Given the description of an element on the screen output the (x, y) to click on. 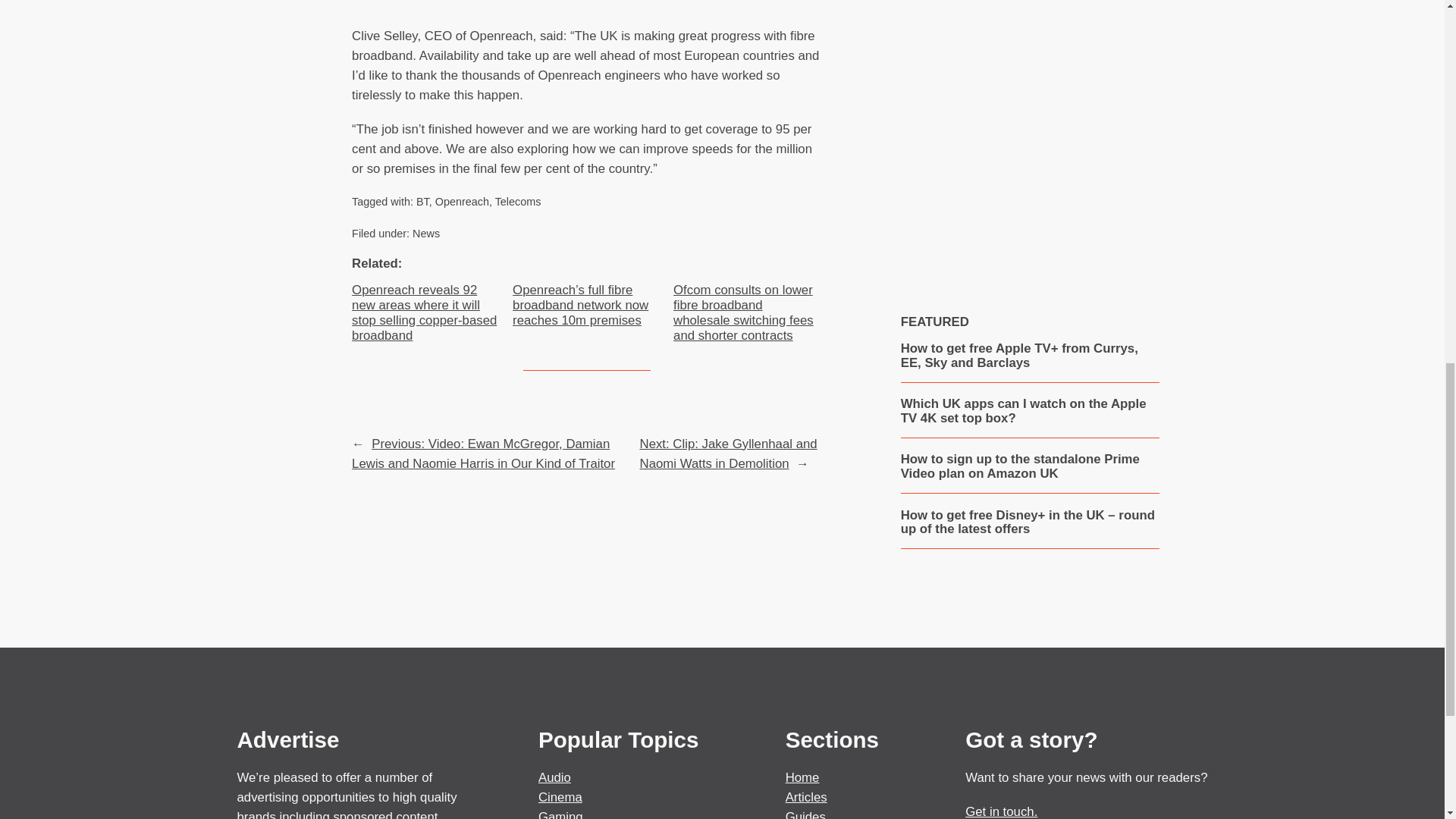
Audio (554, 777)
BT (422, 201)
News (425, 233)
Telecoms (518, 201)
Cinema (560, 797)
Gaming (560, 814)
Articles (806, 797)
Which UK apps can I watch on the Apple TV 4K set top box? (1029, 411)
Next: Clip: Jake Gyllenhaal and Naomi Watts in Demolition (728, 453)
